Given the description of an element on the screen output the (x, y) to click on. 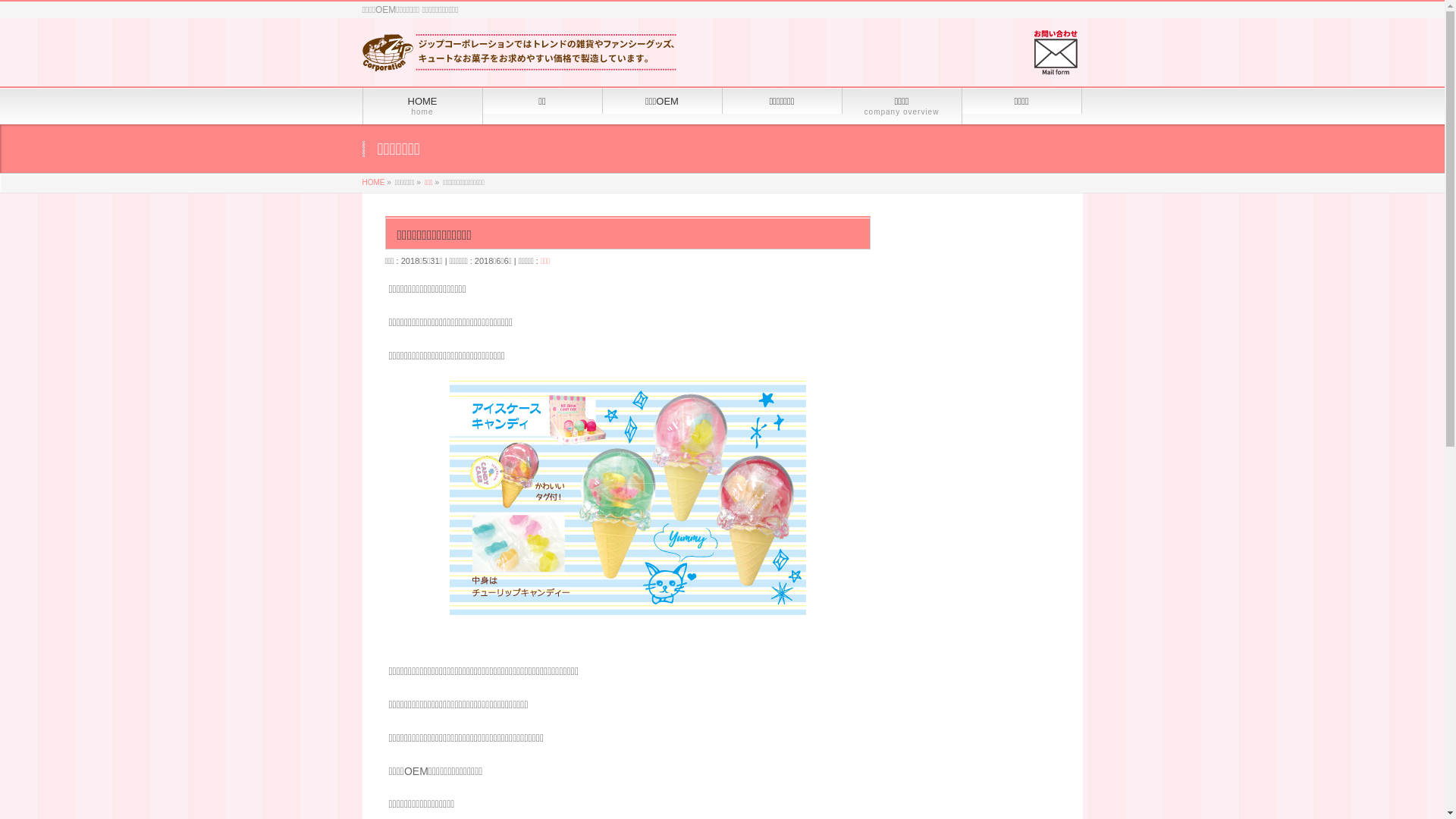
HOME
home Element type: text (422, 105)
HOME Element type: text (373, 182)
